Given the description of an element on the screen output the (x, y) to click on. 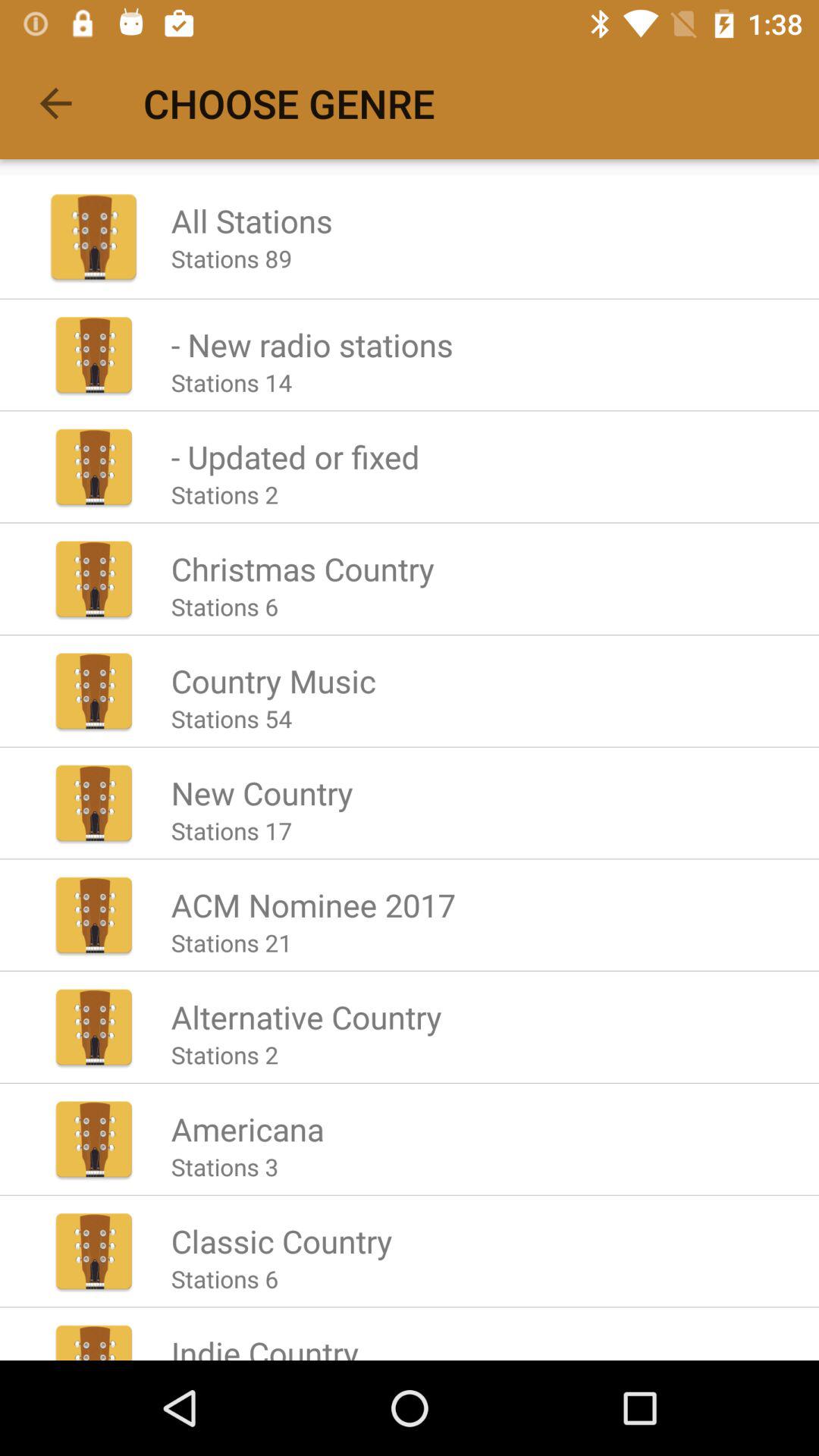
click icon above the stations 2 app (306, 1016)
